Given the description of an element on the screen output the (x, y) to click on. 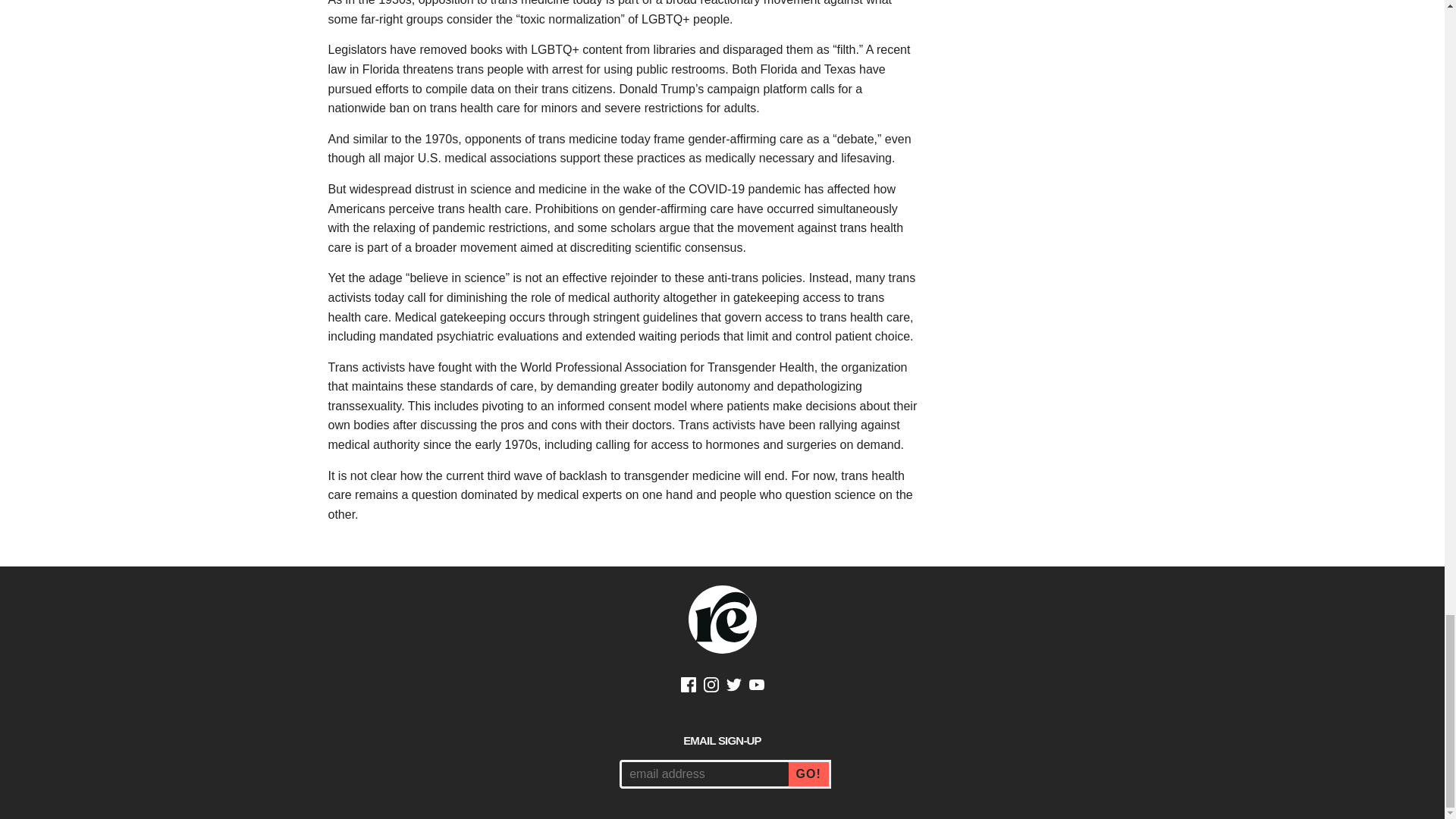
GO! (810, 774)
